Given the description of an element on the screen output the (x, y) to click on. 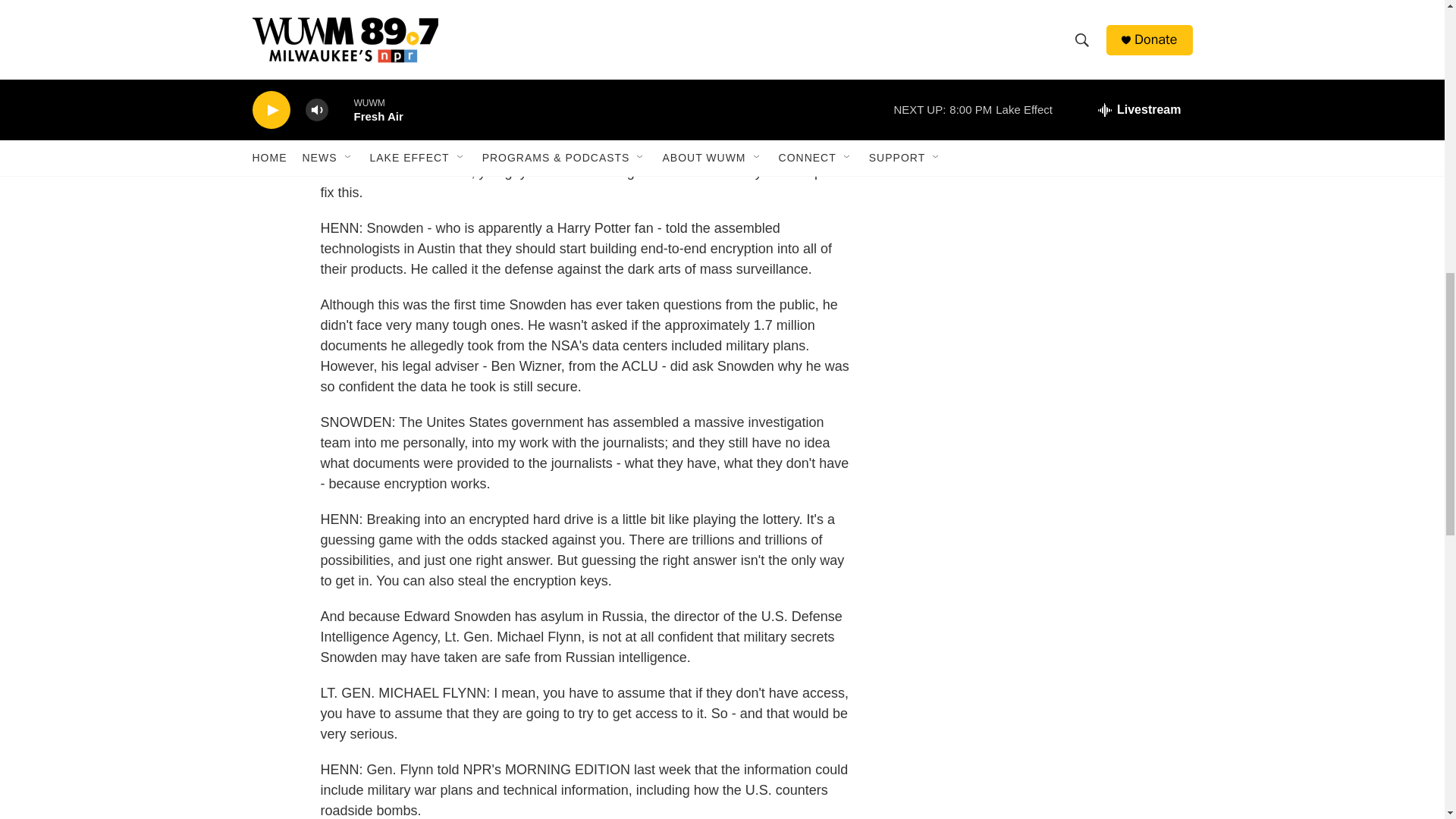
3rd party ad content (1062, 61)
